Given the description of an element on the screen output the (x, y) to click on. 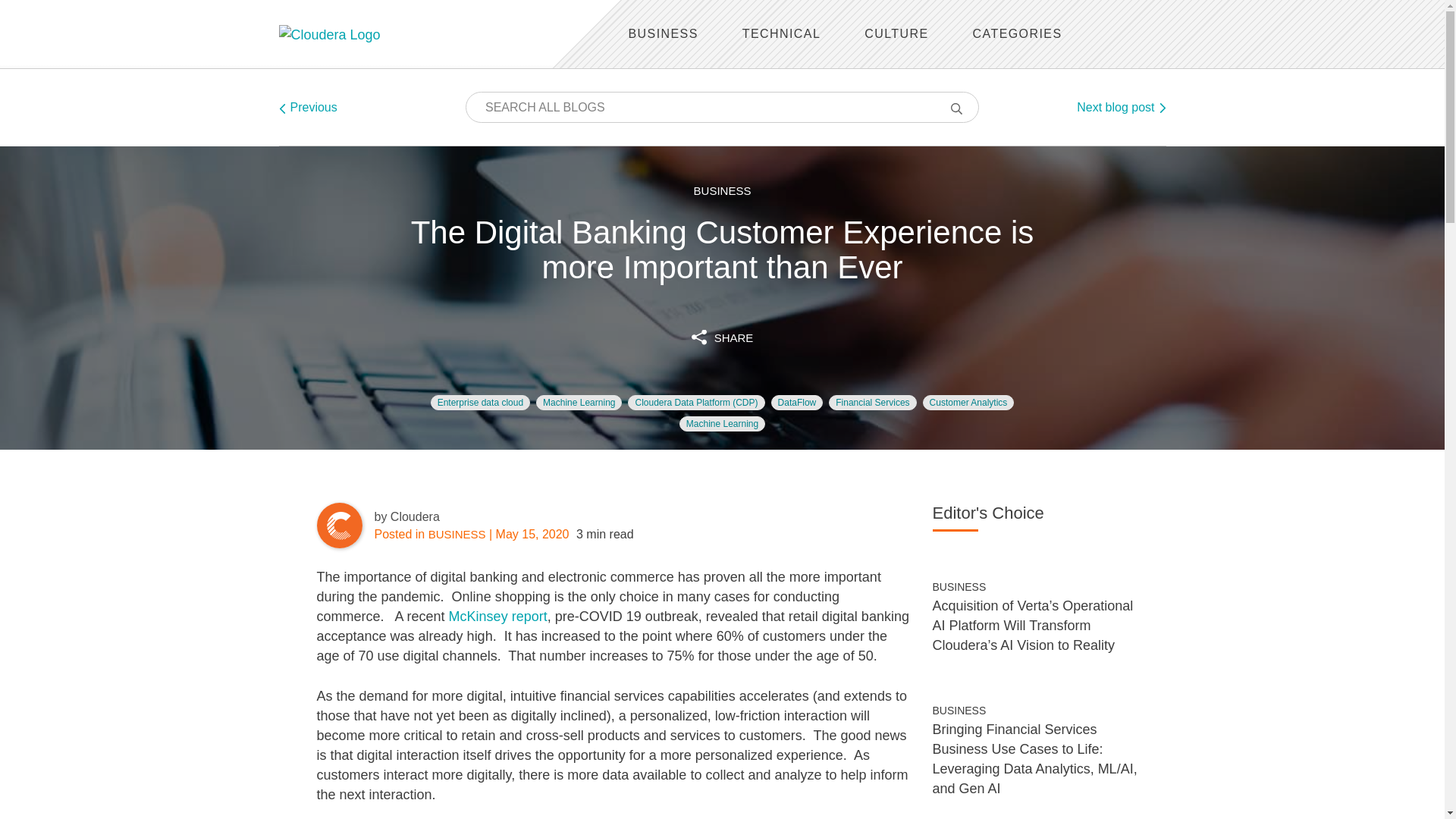
SHARE (722, 334)
TECHNICAL (781, 33)
Machine Learning (578, 402)
CULTURE (896, 33)
Customer Analytics (968, 402)
Cloudera (414, 516)
CATEGORIES (1017, 33)
DataFlow (797, 402)
BUSINESS (662, 33)
BUSINESS (960, 586)
McKinsey report (496, 616)
Machine Learning (722, 423)
BUSINESS (722, 190)
Posts by Cloudera (414, 516)
Enterprise data cloud (479, 402)
